Given the description of an element on the screen output the (x, y) to click on. 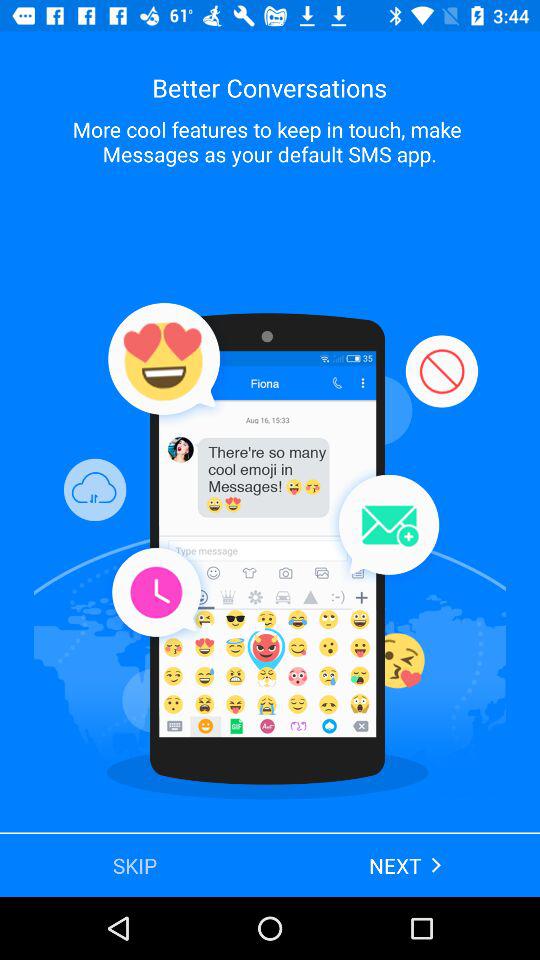
launch the item to the left of next icon (135, 864)
